Given the description of an element on the screen output the (x, y) to click on. 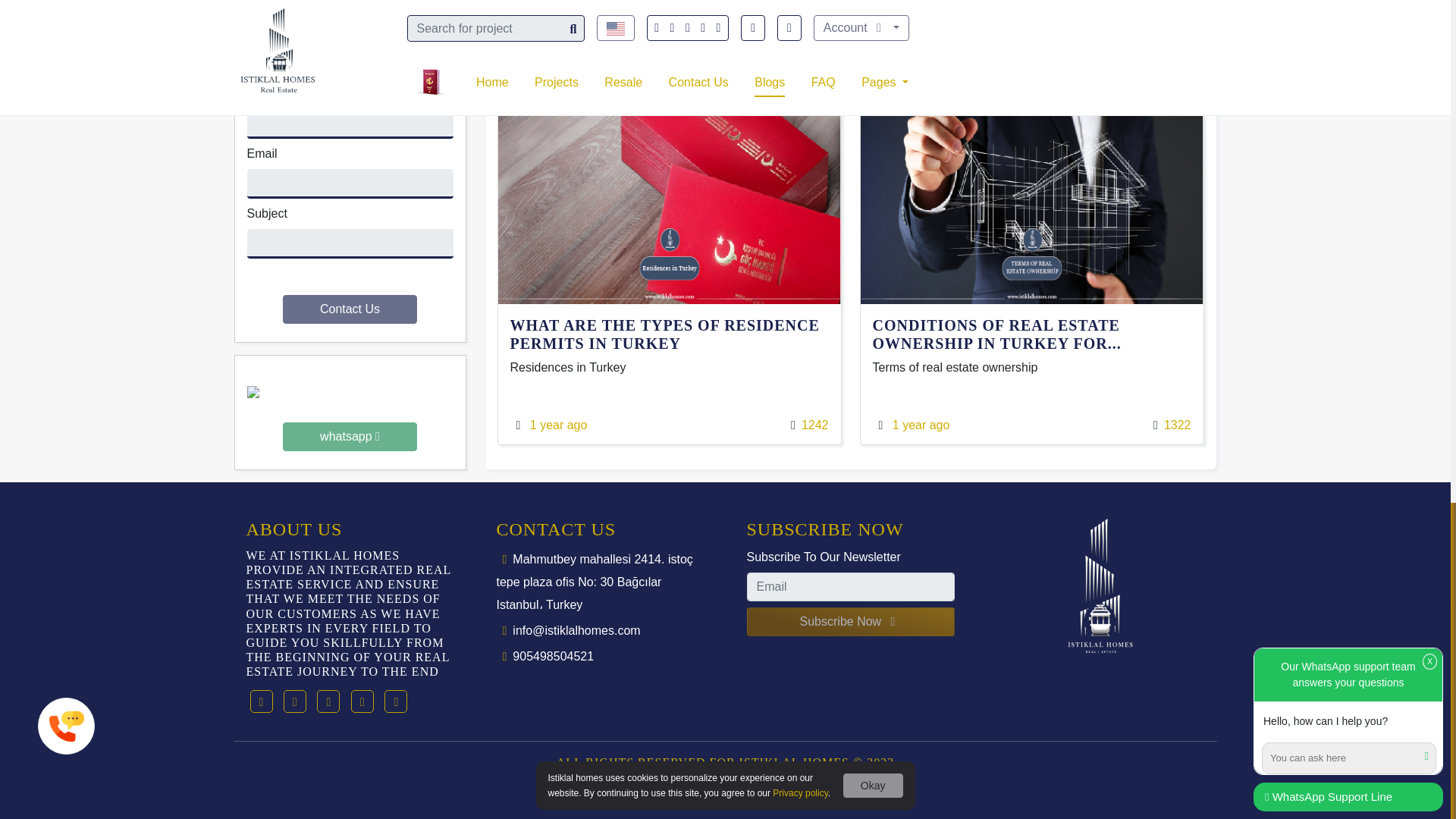
WHAT ARE THE TYPES OF RESIDENCE PERMITS IN TURKEY (668, 334)
CONDITIONS OF REAL ESTATE OWNERSHIP IN TURKEY FOR... (1031, 334)
